Given the description of an element on the screen output the (x, y) to click on. 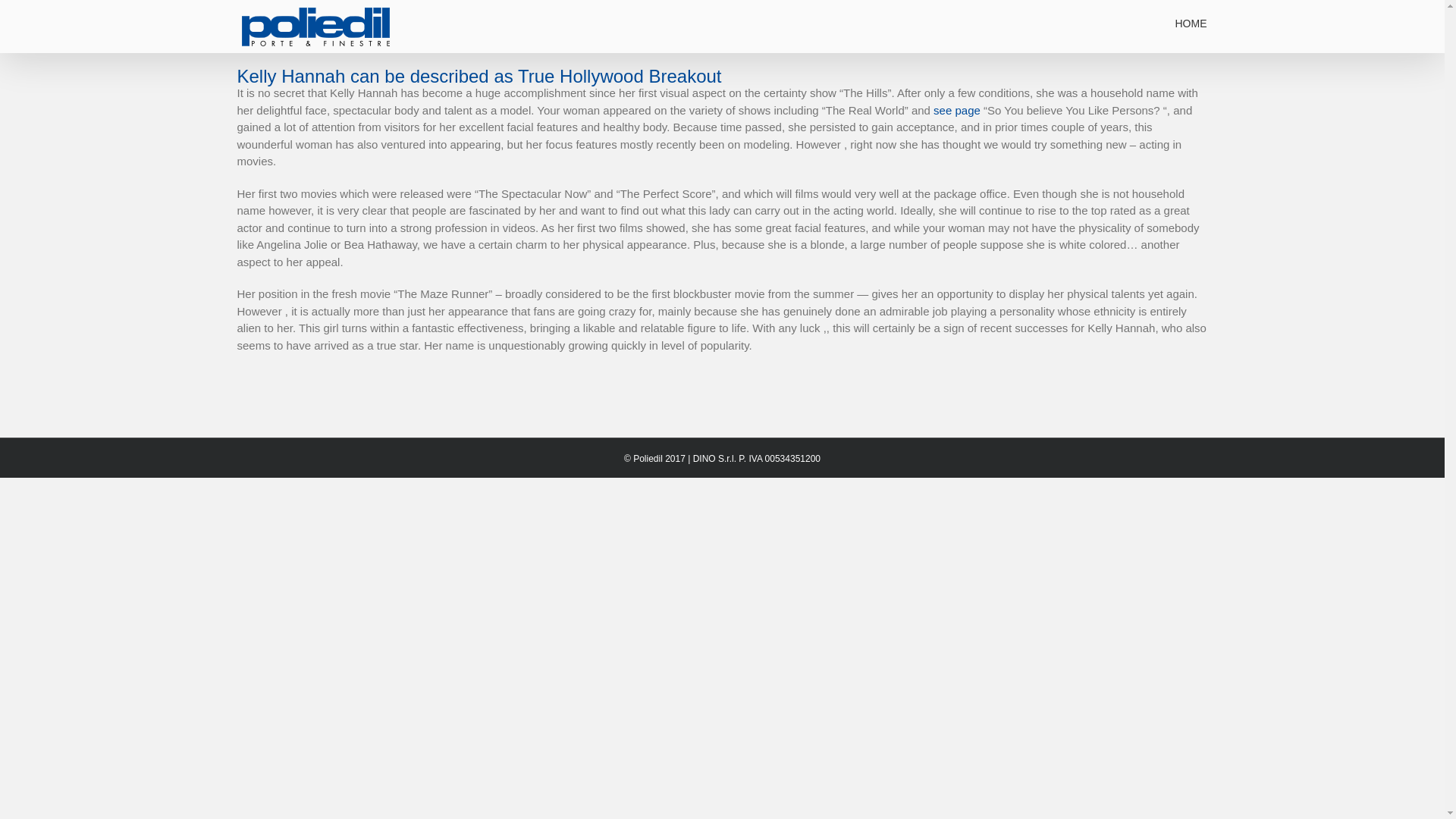
see page (956, 110)
